Given the description of an element on the screen output the (x, y) to click on. 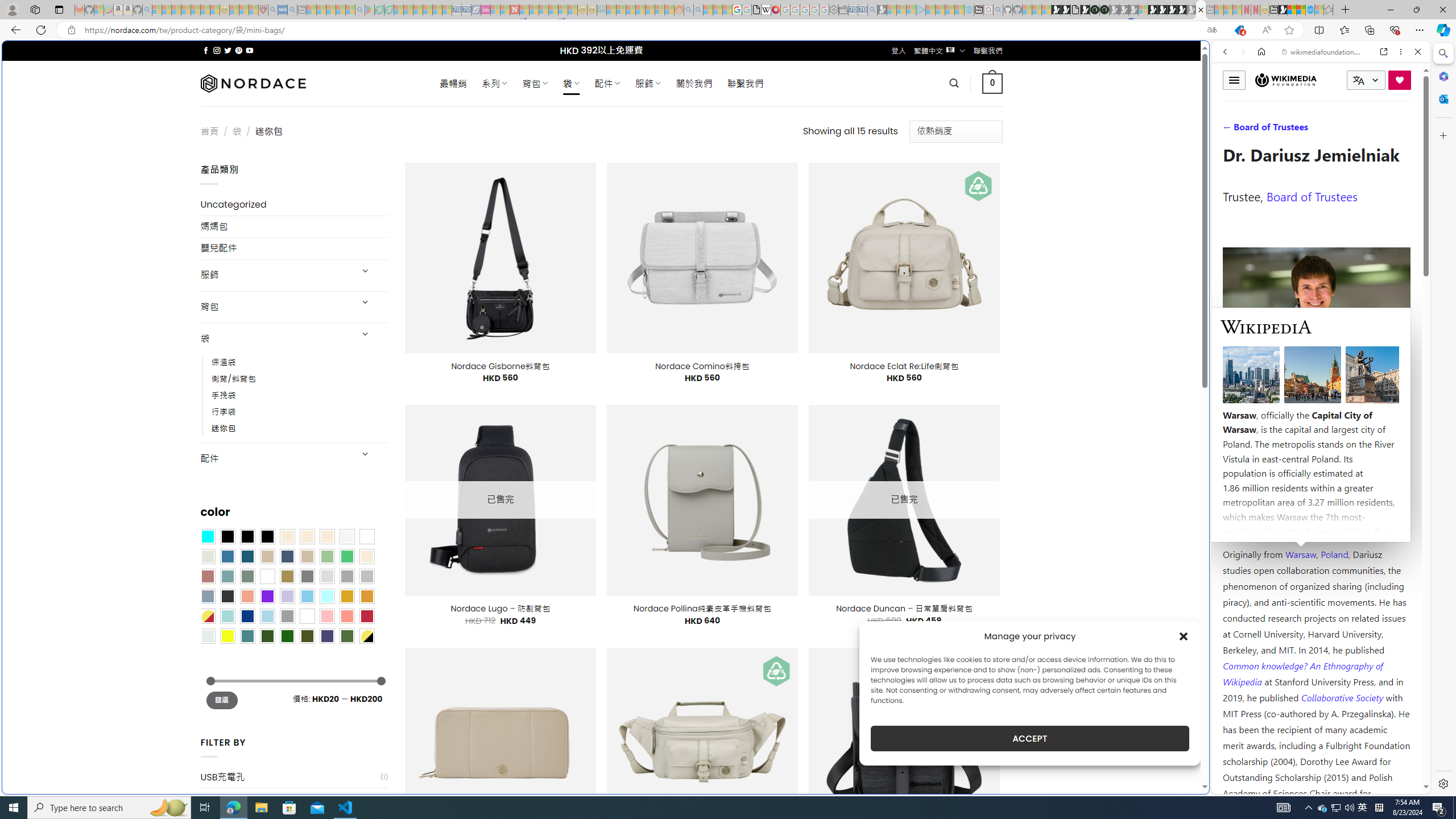
The Weather Channel - MSN - Sleeping (175, 9)
Jobs - lastminute.com Investor Portal - Sleeping (485, 9)
Home | Sky Blue Bikes - Sky Blue Bikes (1118, 242)
wikimediafoundation.org (1323, 51)
VIDEOS (1300, 130)
Sign in to your account - Sleeping (1143, 9)
Wiktionary (1315, 380)
Latest Politics News & Archive | Newsweek.com - Sleeping (514, 9)
